Given the description of an element on the screen output the (x, y) to click on. 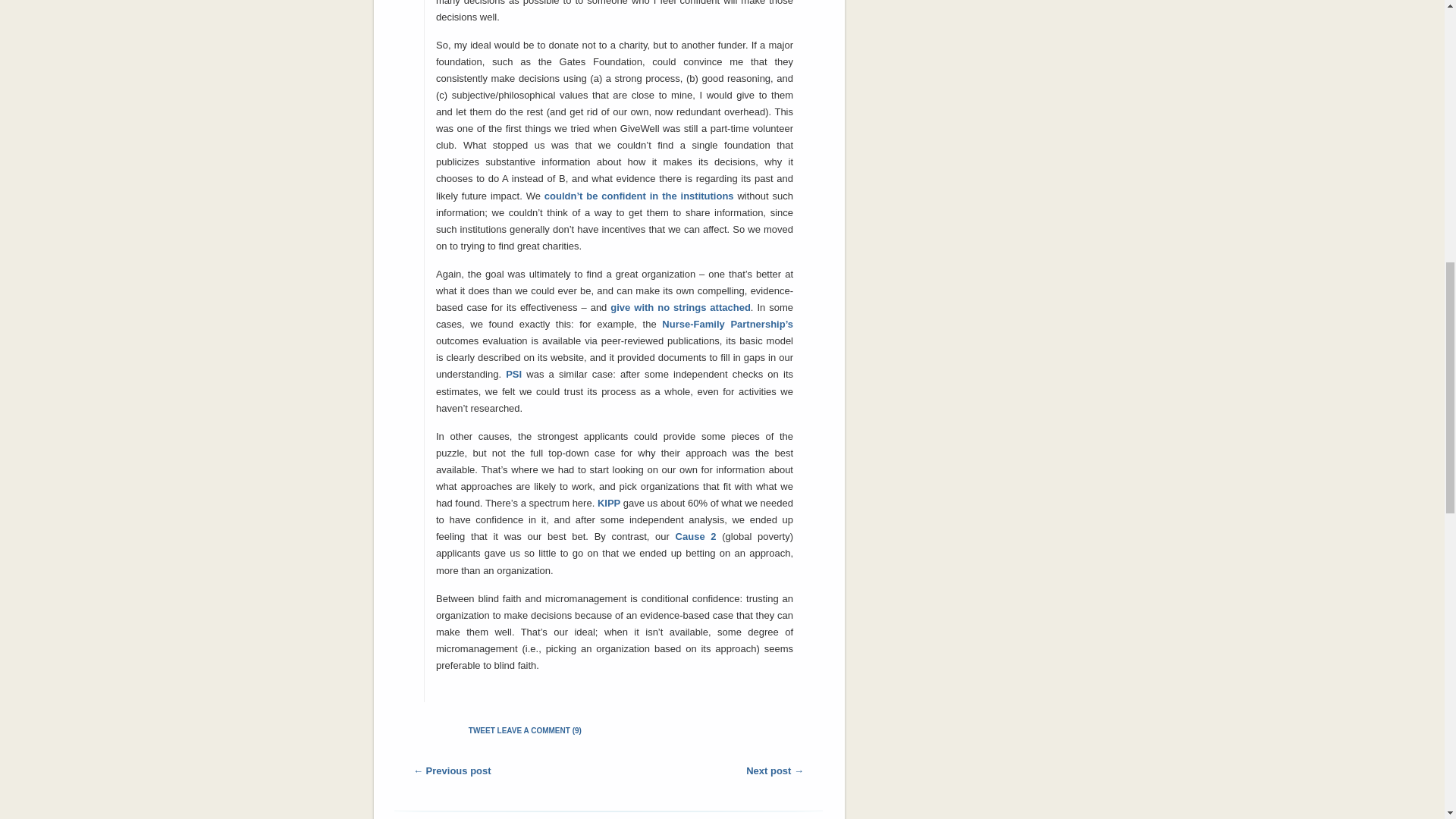
Cause 2 (695, 536)
PSI (515, 374)
give with no strings attached (680, 307)
TWEET (481, 730)
KIPP (609, 502)
